Given the description of an element on the screen output the (x, y) to click on. 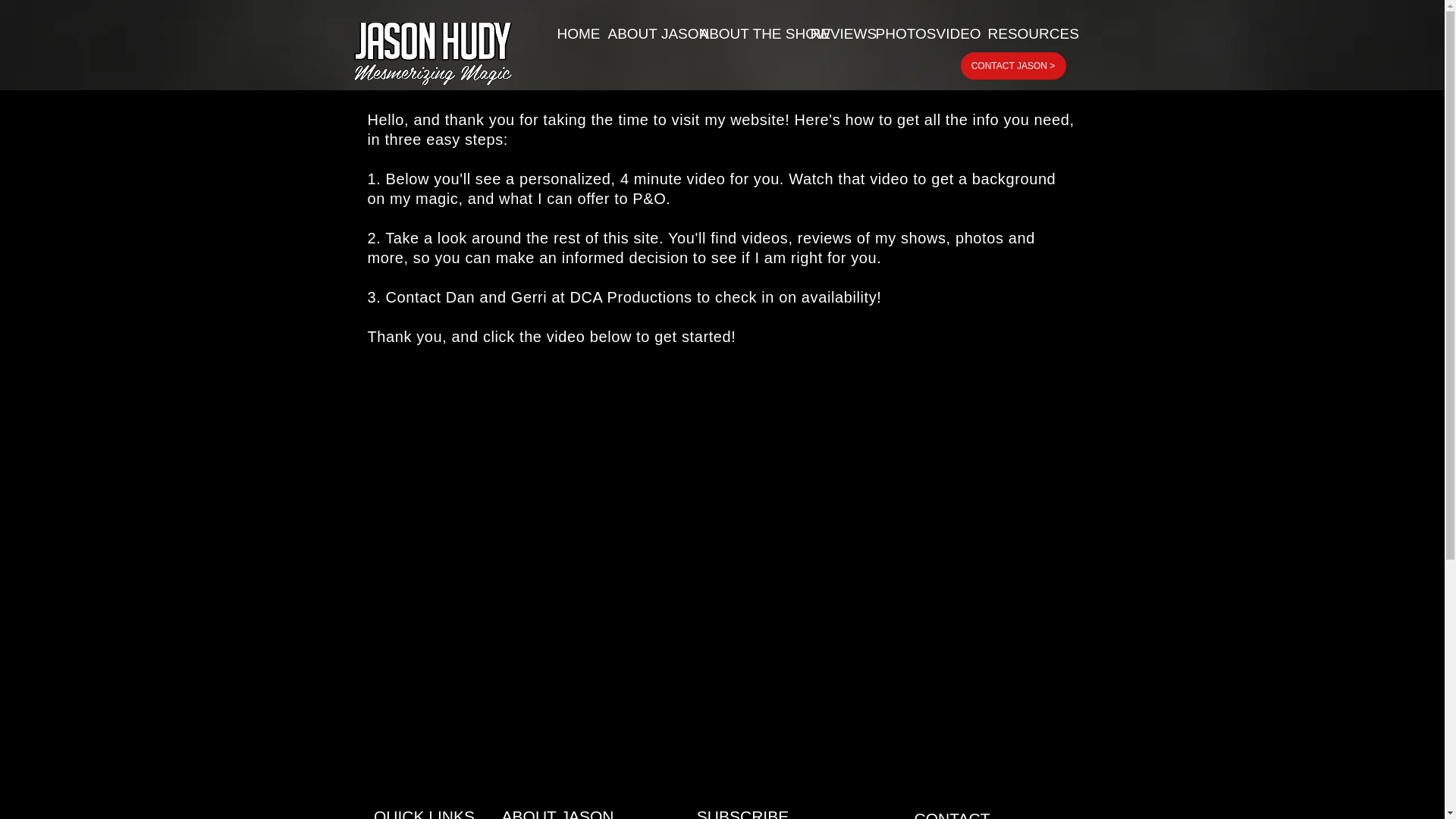
PHOTOS (894, 33)
VIDEO (950, 33)
HOME (571, 33)
ABOUT THE SHOW (743, 33)
REVIEWS (831, 33)
ABOUT JASON (641, 33)
RESOURCES (1016, 33)
